Given the description of an element on the screen output the (x, y) to click on. 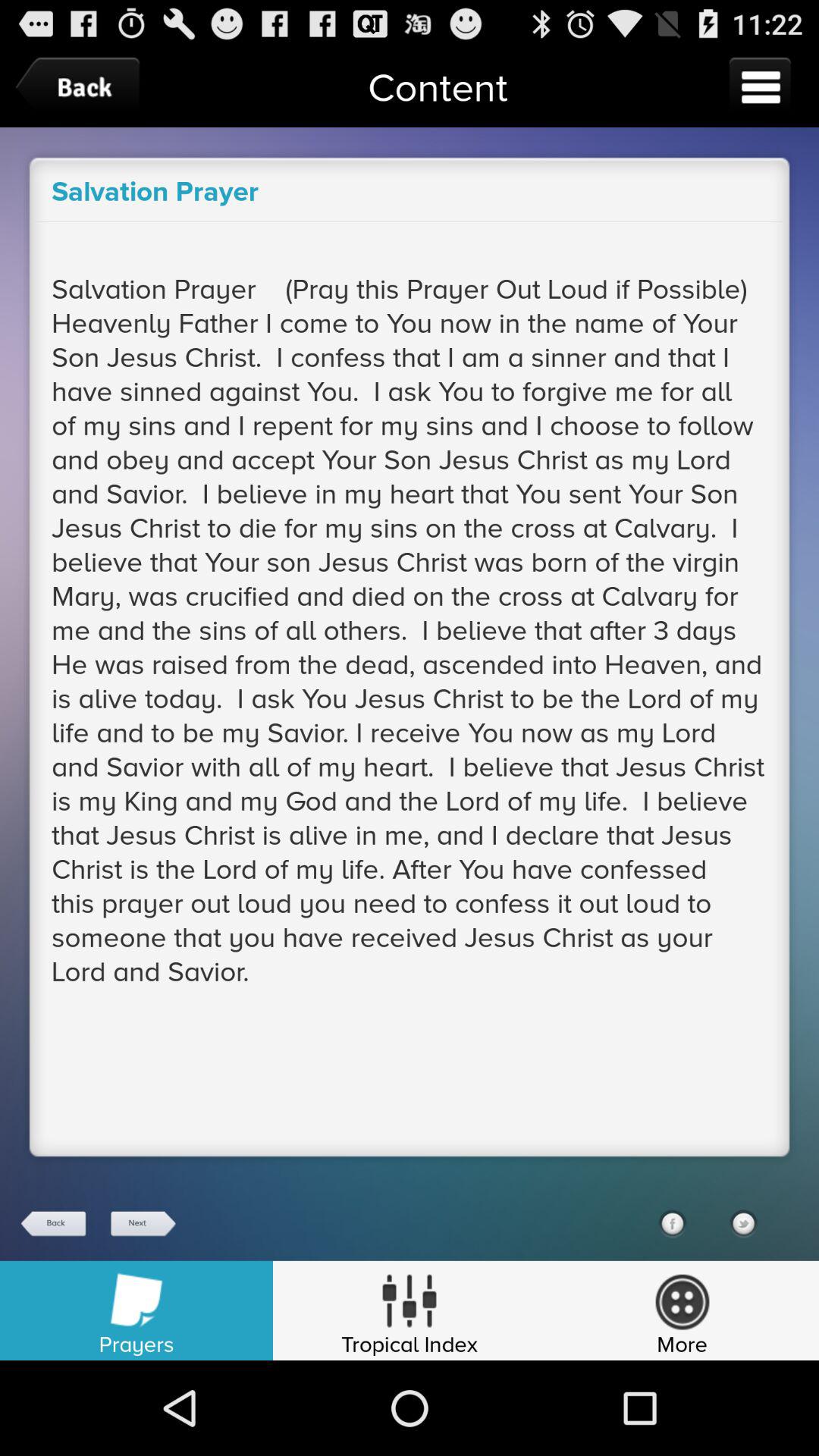
choose item below salvation prayer pray (142, 1223)
